Given the description of an element on the screen output the (x, y) to click on. 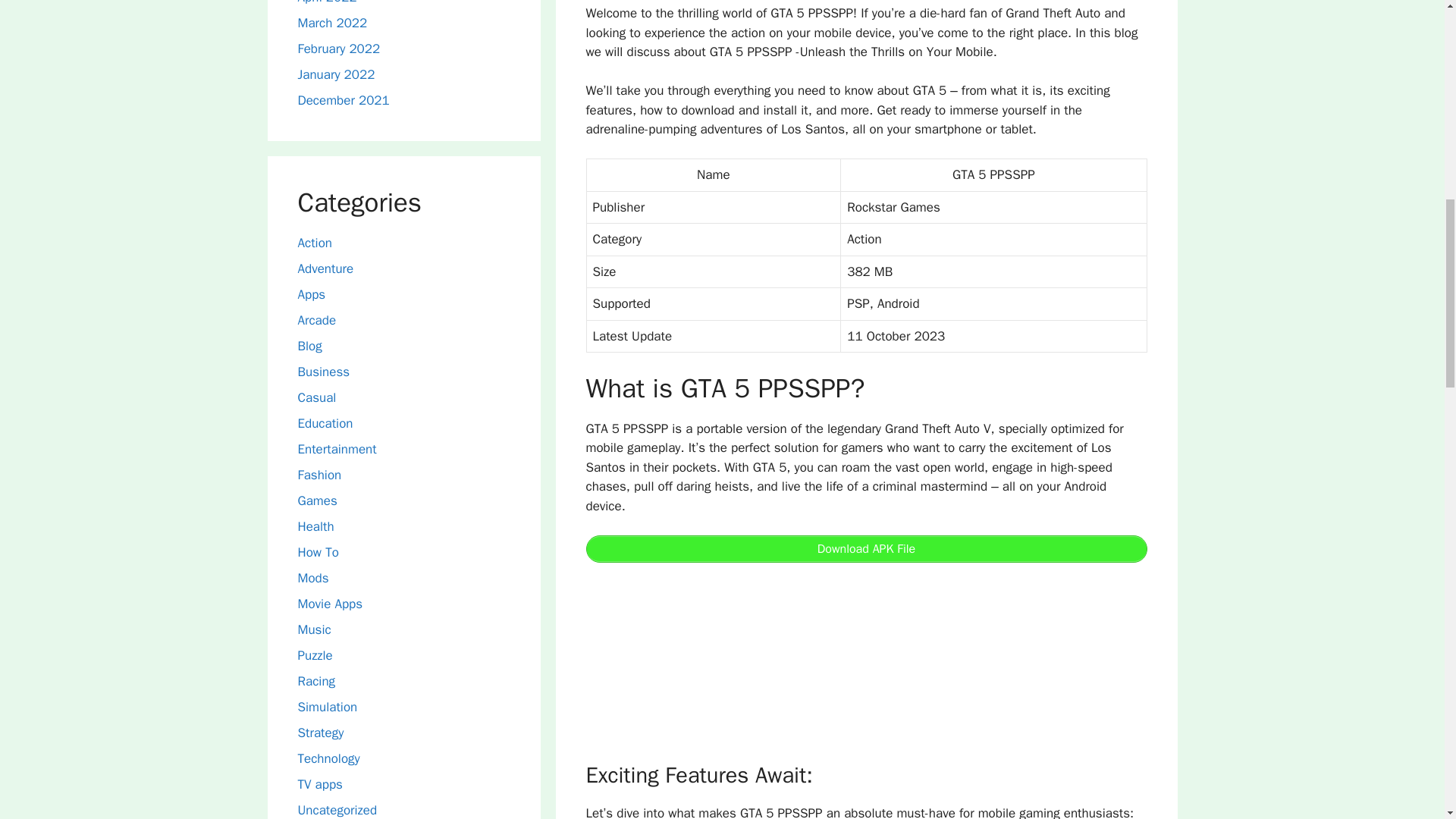
Download APK File (866, 548)
